Given the description of an element on the screen output the (x, y) to click on. 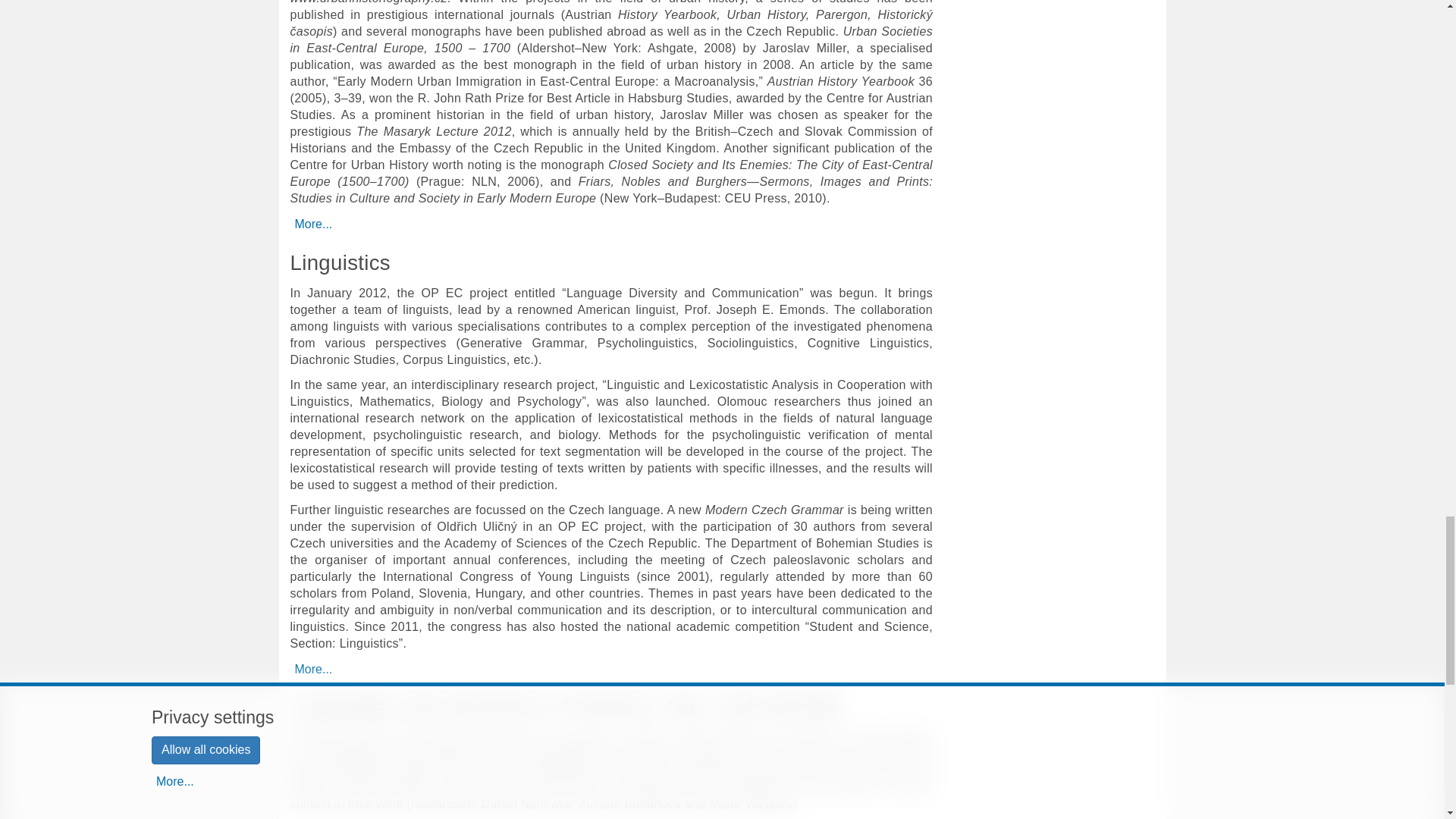
More... (312, 224)
More... (312, 669)
